Given the description of an element on the screen output the (x, y) to click on. 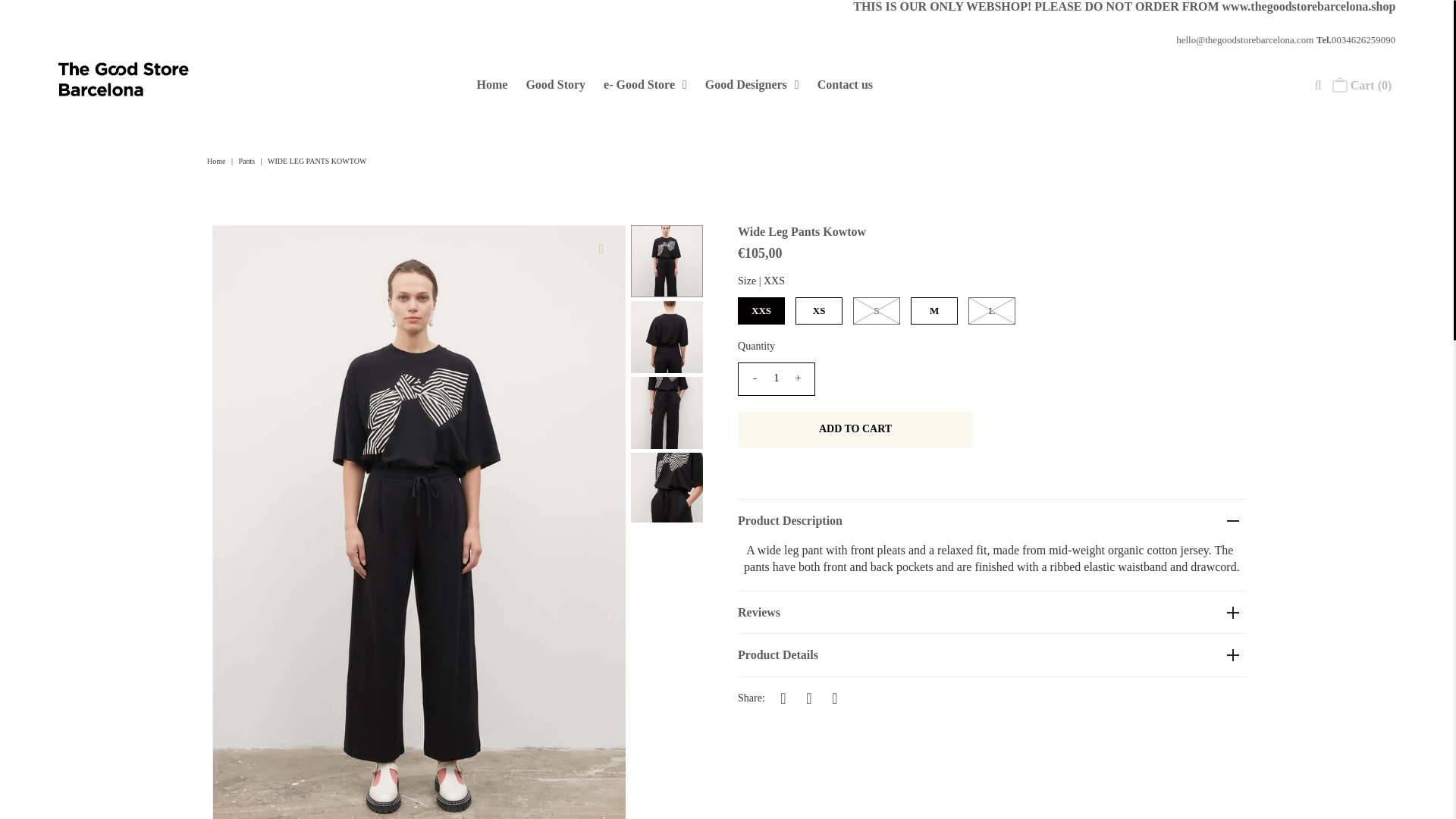
Home (217, 161)
Pants (248, 161)
Share on Pinterest (834, 697)
Share on Facebook (782, 697)
click to zoom-in (601, 249)
Share on Twitter (809, 697)
Add to Cart (855, 429)
